Given the description of an element on the screen output the (x, y) to click on. 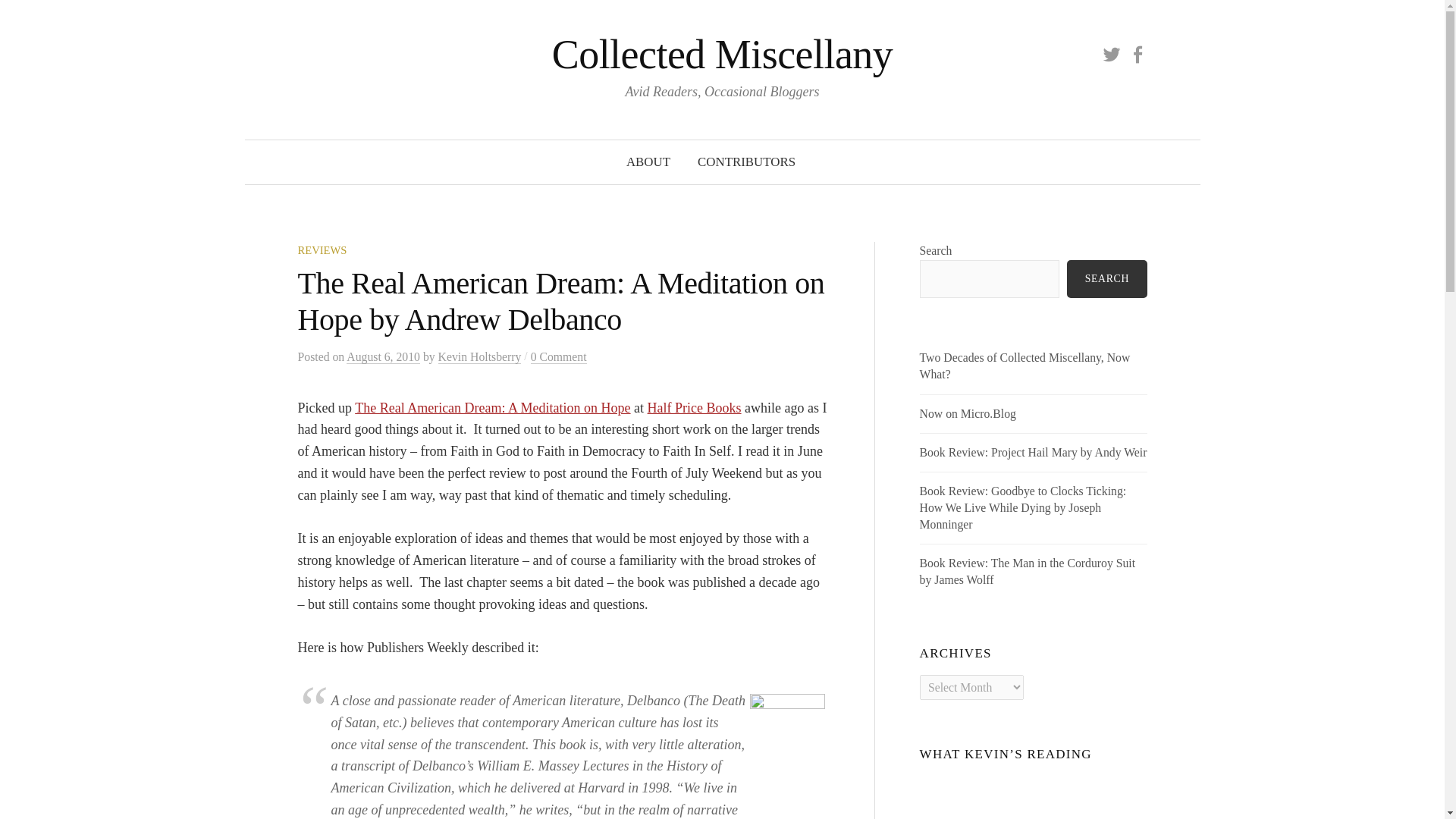
Now on Micro.Blog (968, 413)
REVIEWS (321, 250)
Kevin Holtsberry (479, 356)
The Real American Dream: A Meditation on Hope (492, 407)
Book Review: The Man in the Corduroy Suit by James Wolff (1027, 571)
ABOUT (648, 162)
Collected Miscellany (722, 53)
Half Price Books (694, 407)
CONTRIBUTORS (746, 162)
View all posts by Kevin Holtsberry (479, 356)
August 6, 2010 (383, 356)
SEARCH (1107, 279)
Book Review: Project Hail Mary by Andy Weir (1033, 451)
0 Comment (558, 356)
Half Price Books (694, 407)
